Given the description of an element on the screen output the (x, y) to click on. 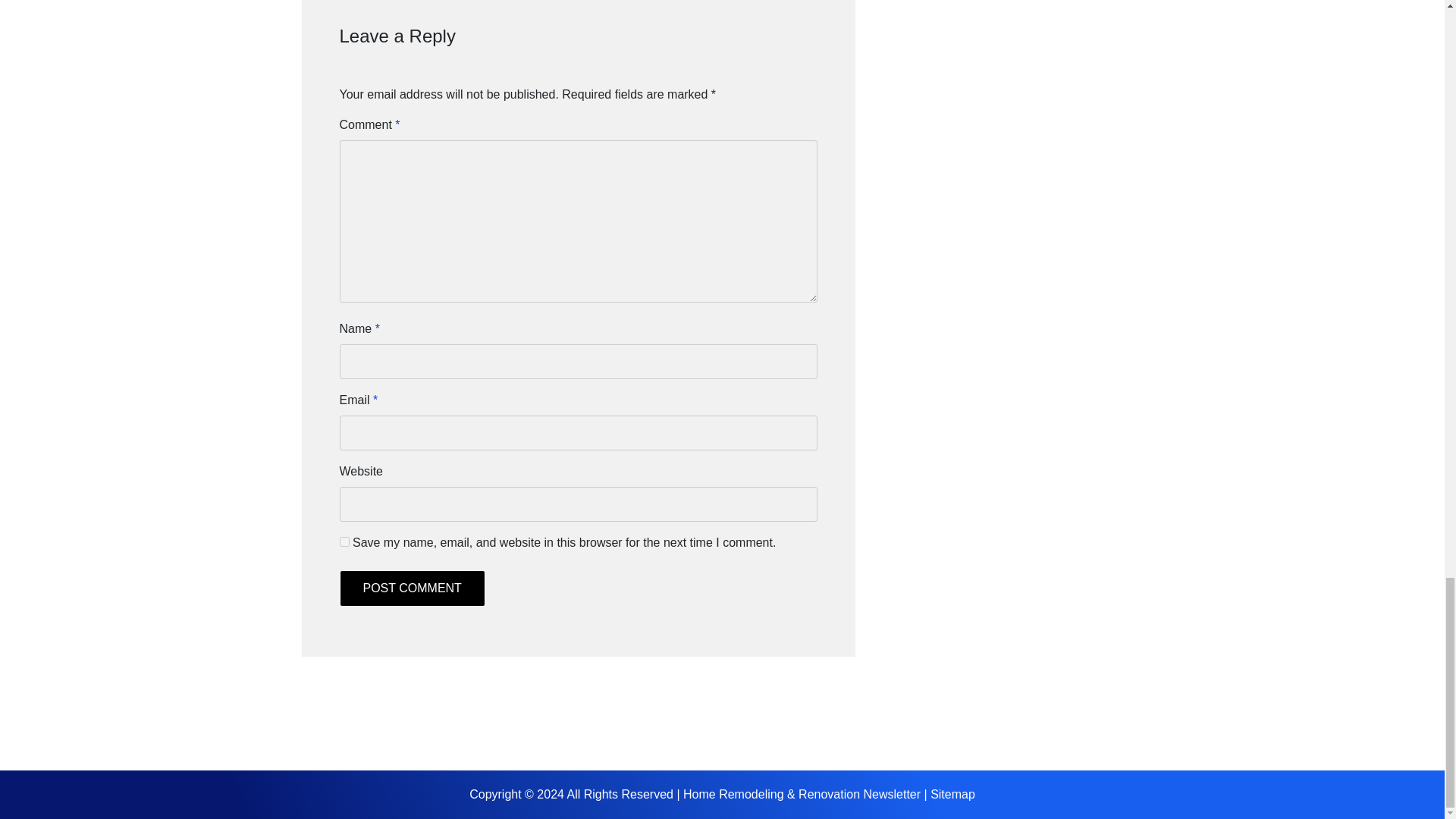
yes (344, 542)
Post Comment (411, 588)
Post Comment (411, 588)
